Given the description of an element on the screen output the (x, y) to click on. 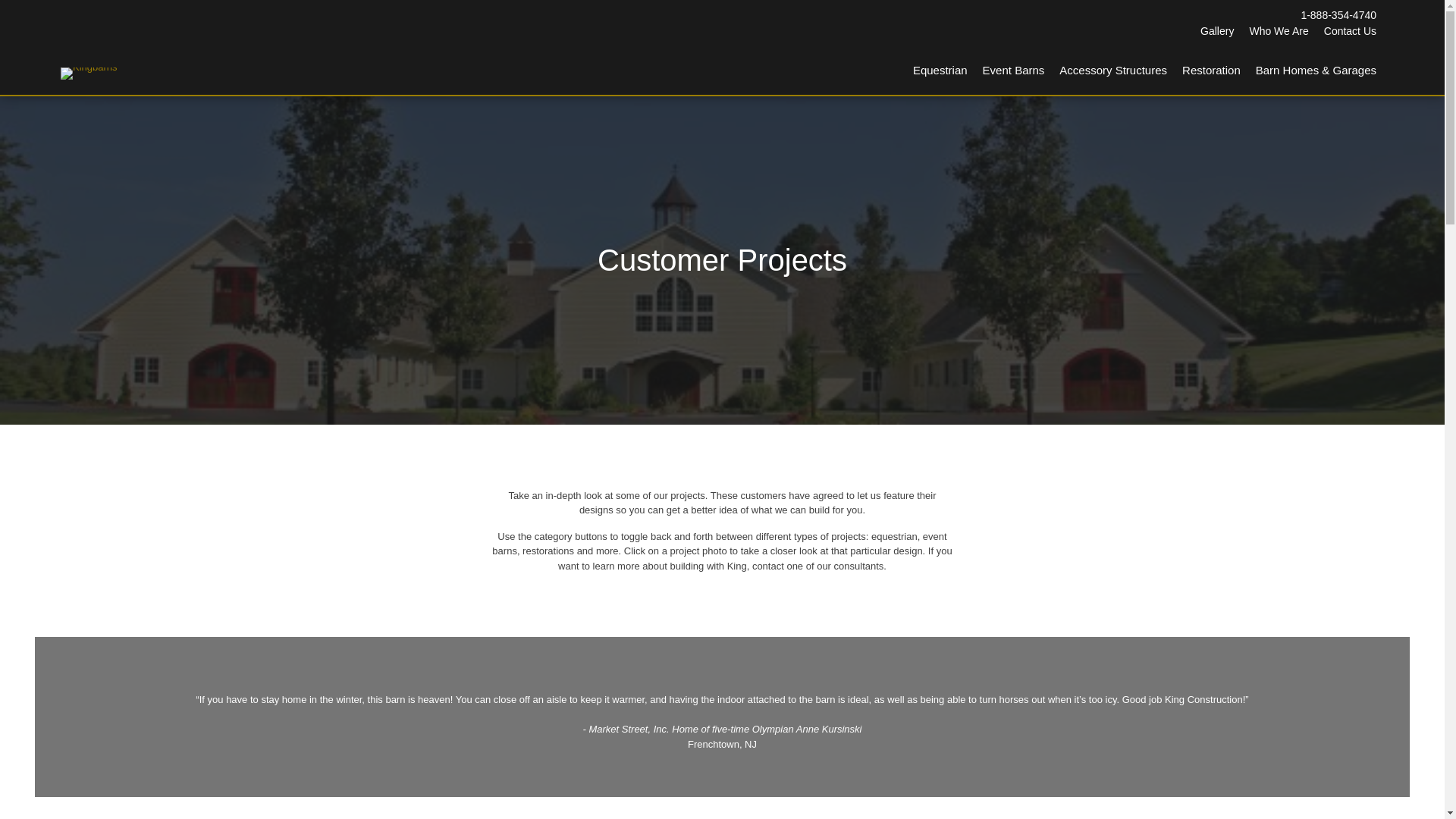
Equestrian (940, 70)
Accessory Structures (1113, 70)
Contact Us (1349, 31)
Who We Are (1278, 31)
Gallery (1216, 31)
1-888-354-4740 (1337, 15)
Restoration (1211, 70)
Event Barns (1013, 70)
